Given the description of an element on the screen output the (x, y) to click on. 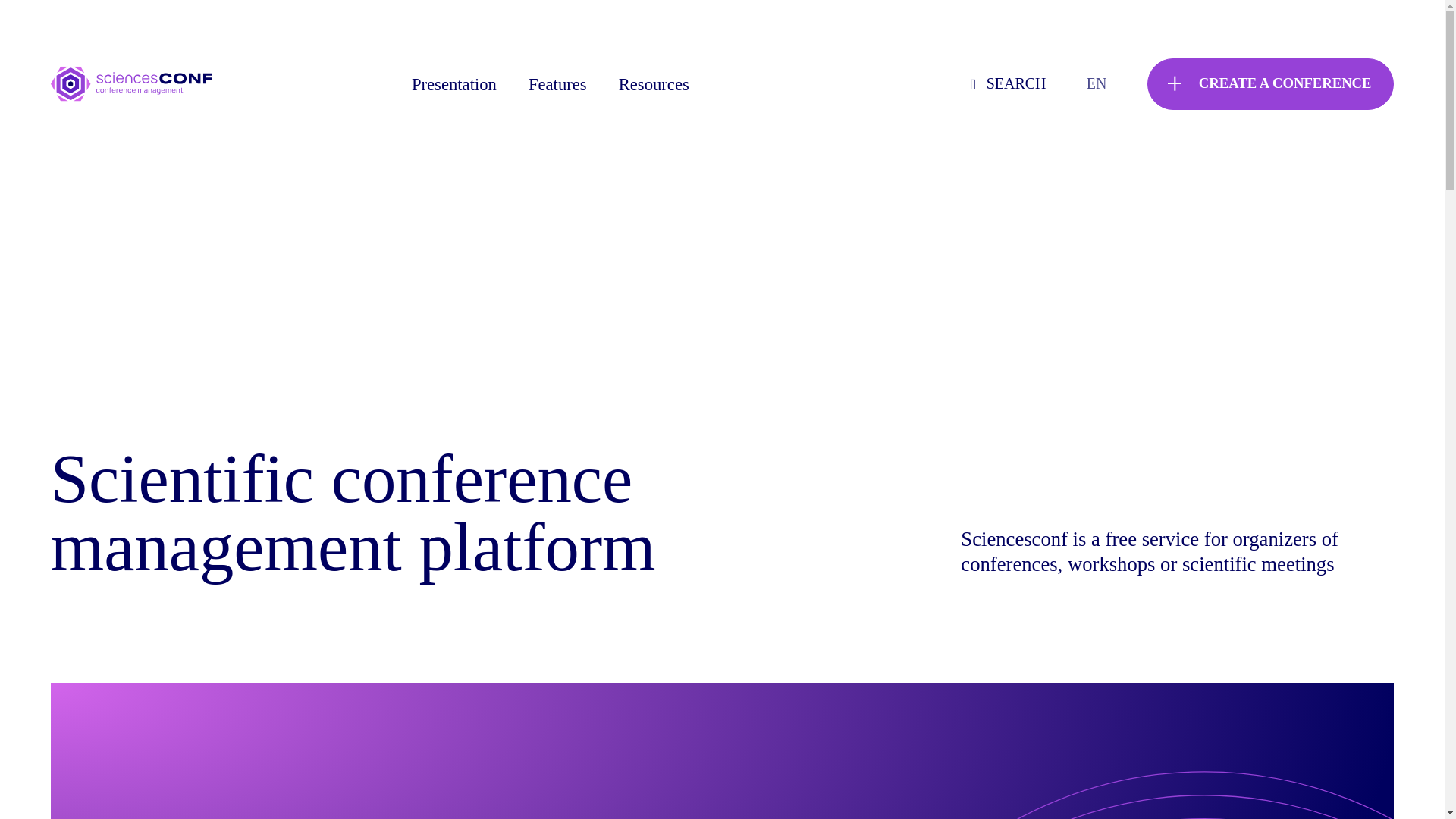
Resources (653, 84)
CREATE A CONFERENCE (1270, 83)
Presentation (454, 84)
Features (557, 84)
